Given the description of an element on the screen output the (x, y) to click on. 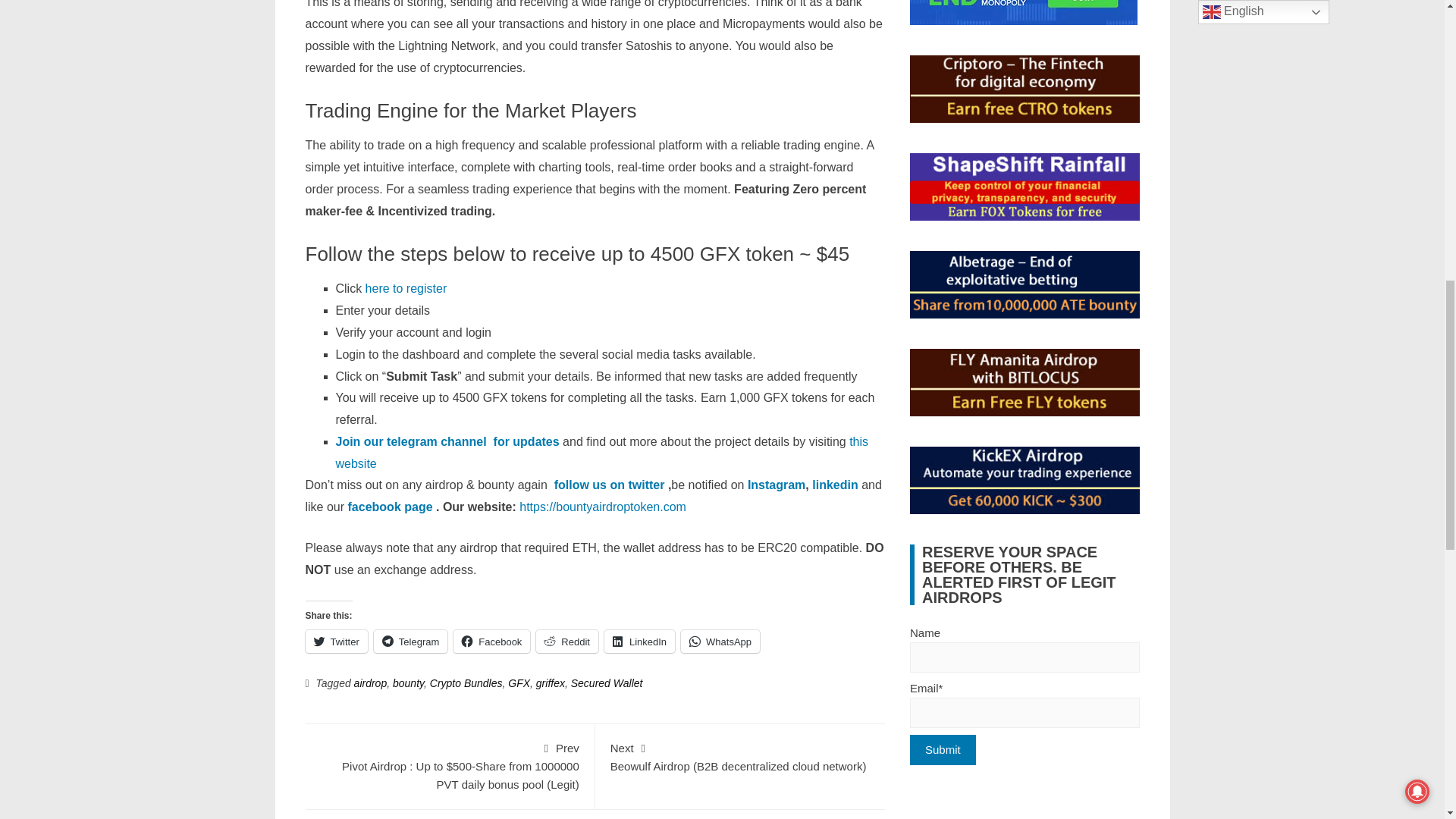
Instagram (776, 484)
linkedin  (836, 484)
follow us on twitter (609, 484)
Click to share on WhatsApp (720, 640)
Twitter (335, 640)
Click to share on Reddit (566, 640)
Presearch (1023, 12)
Click to share on Twitter (335, 640)
Submit (942, 749)
LinkedIn (639, 640)
